Given the description of an element on the screen output the (x, y) to click on. 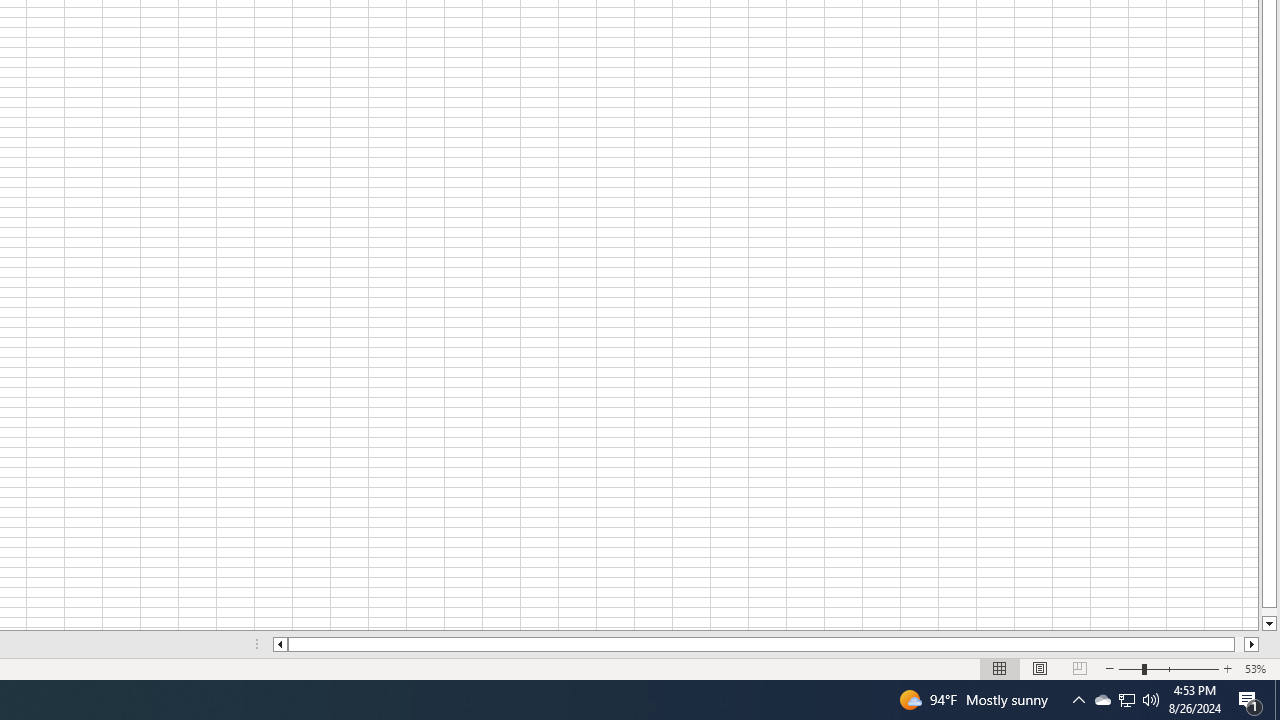
Line down (1268, 624)
Column right (1252, 644)
Zoom Out (1129, 668)
Zoom In (1227, 668)
Page Break Preview (1079, 668)
Page down (1268, 611)
Page Layout (1039, 668)
Page right (1239, 644)
Class: NetUIScrollBar (765, 644)
Normal (1000, 668)
Column left (279, 644)
Zoom (1168, 668)
